Given the description of an element on the screen output the (x, y) to click on. 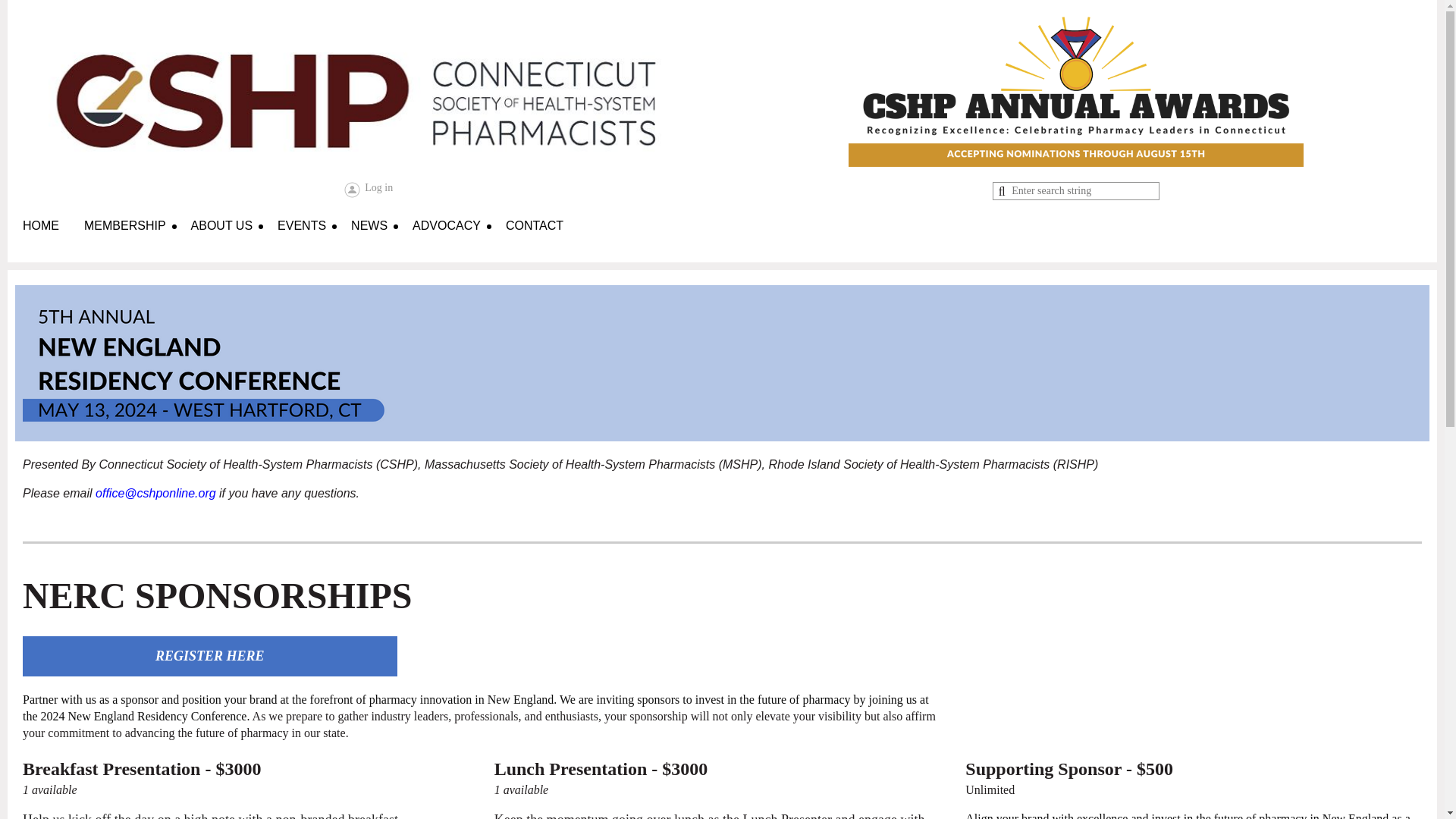
About Us (234, 229)
CONTACT (534, 229)
ADVOCACY (458, 229)
REGISTER HERE (209, 656)
NEWS (381, 229)
Membership (137, 229)
EVENTS (314, 229)
Home (53, 229)
HOME (53, 229)
ABOUT US (234, 229)
